Given the description of an element on the screen output the (x, y) to click on. 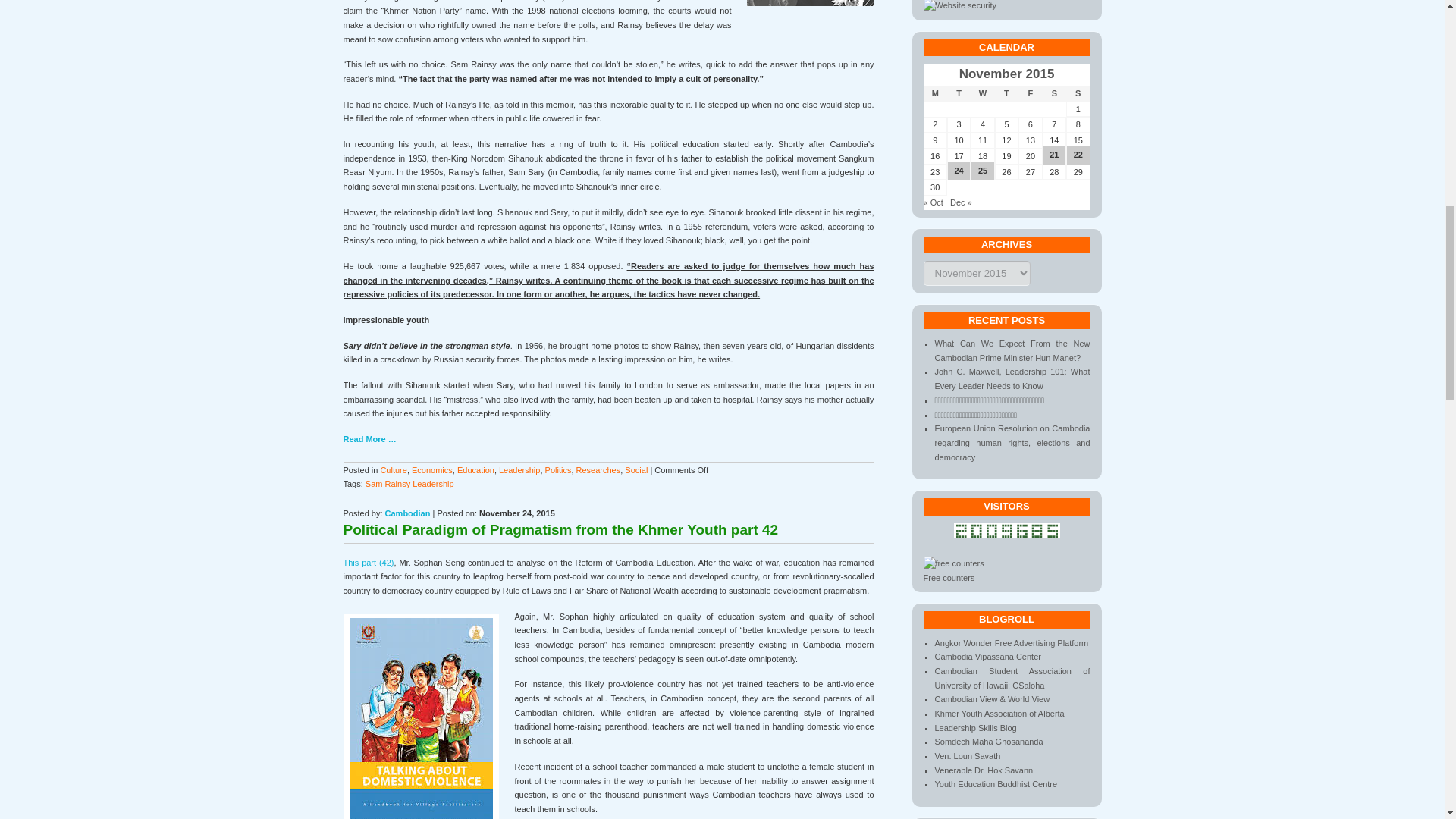
SiteLock (960, 6)
Wednesday (982, 93)
Thursday (1005, 93)
Sunday (1077, 93)
Tuesday (959, 93)
Saturday (1053, 93)
Monday (935, 93)
Friday (1029, 93)
Posts by Cambodian (407, 512)
